Given the description of an element on the screen output the (x, y) to click on. 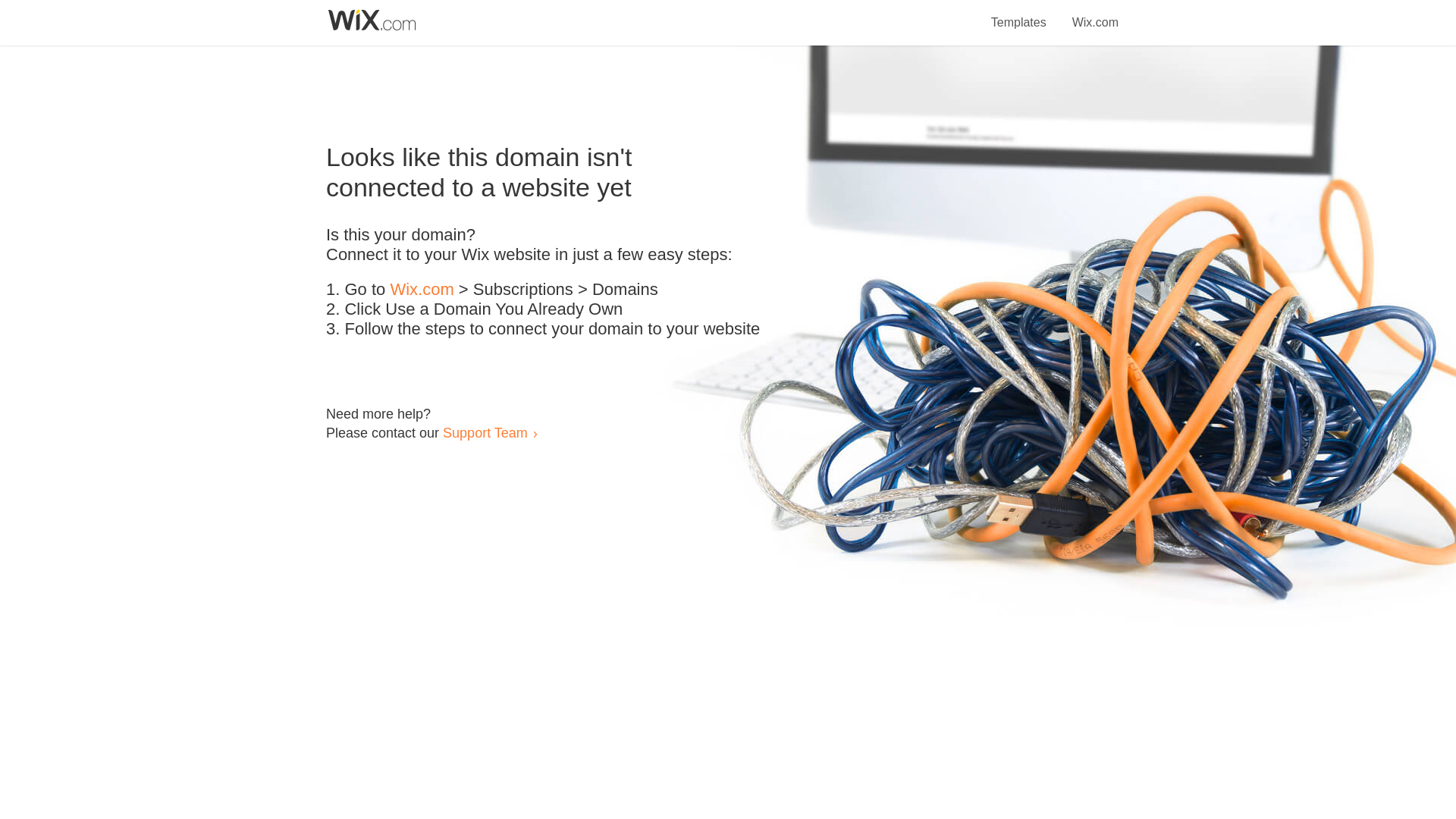
Support Team (484, 432)
Wix.com (421, 289)
Wix.com (1095, 14)
Templates (1018, 14)
